Given the description of an element on the screen output the (x, y) to click on. 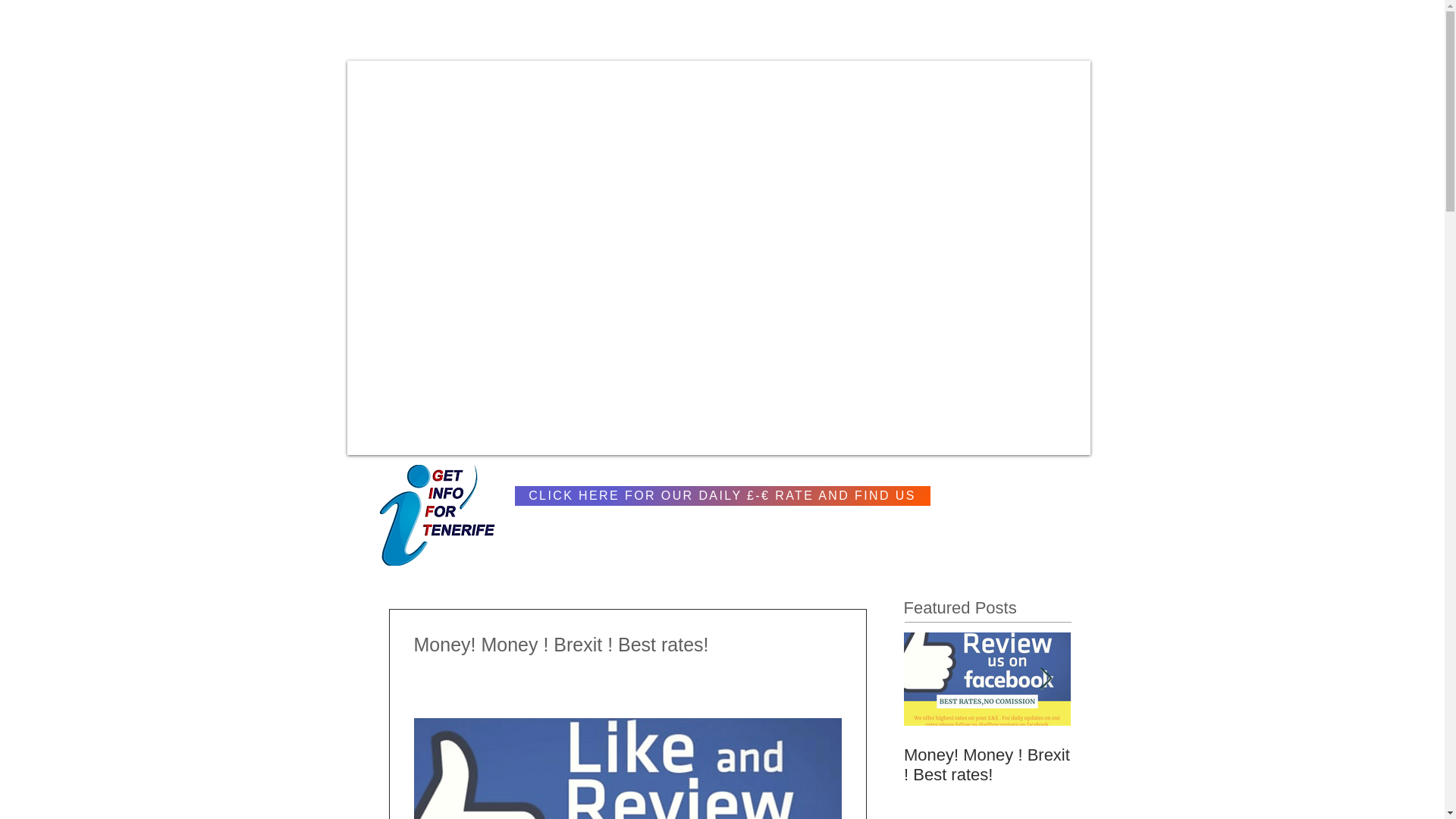
Money! Money ! Brexit ! Best rates! (987, 764)
excursions in tenerife (987, 725)
Dark skies Tenerife (987, 725)
